Given the description of an element on the screen output the (x, y) to click on. 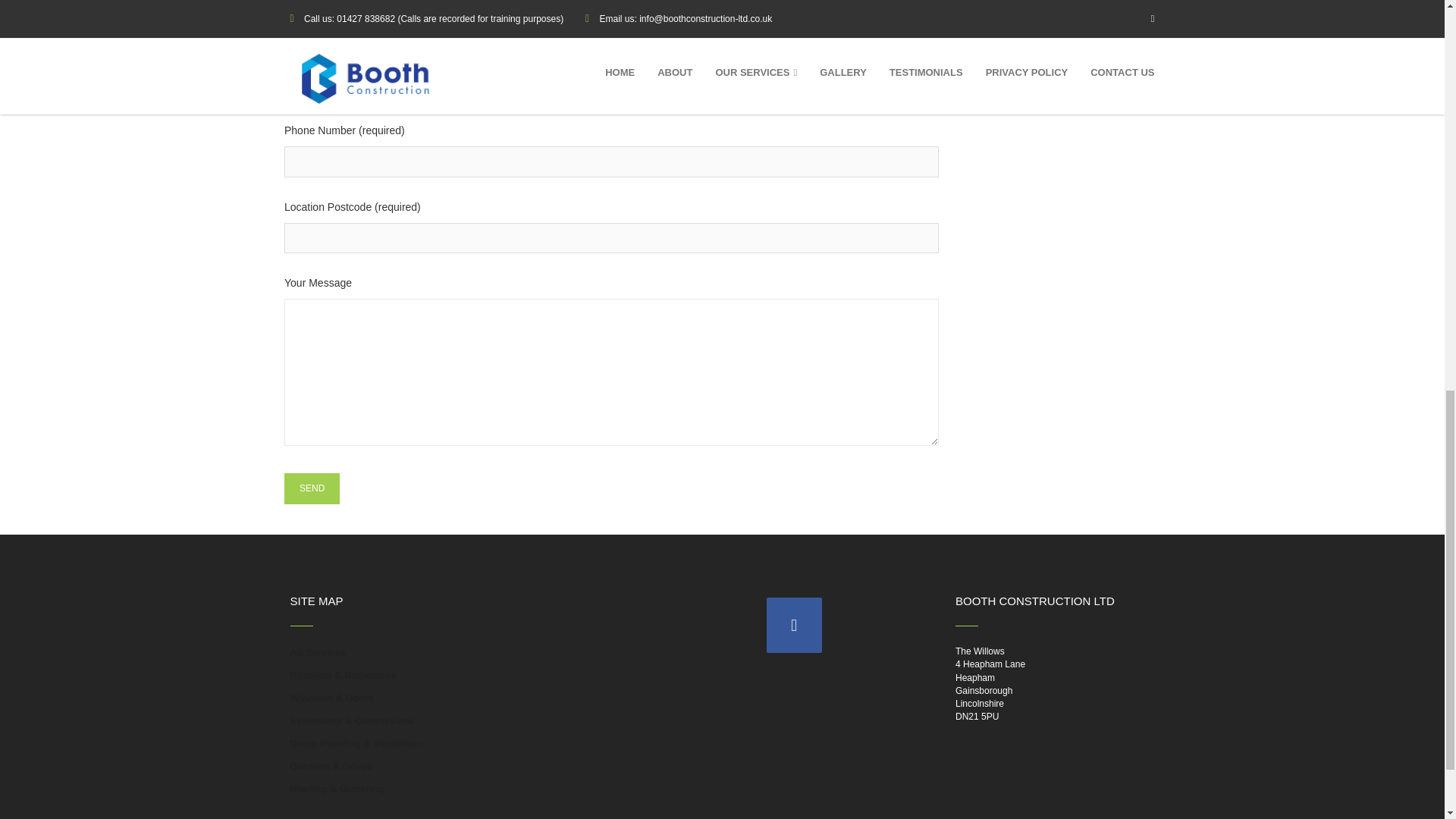
Send (311, 488)
All Services (317, 653)
Send (311, 488)
